Given the description of an element on the screen output the (x, y) to click on. 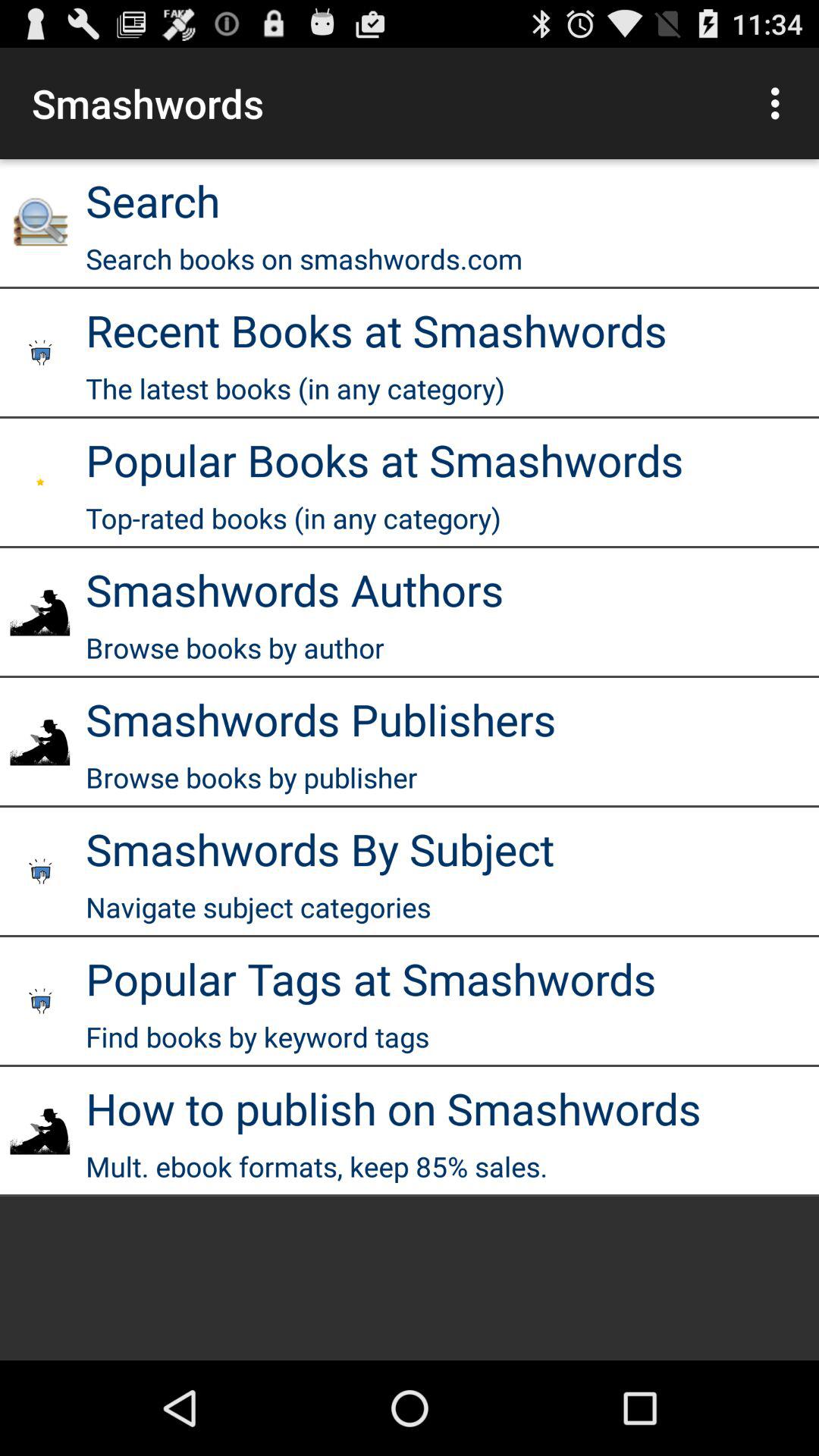
turn on smashwords publishers (320, 718)
